Given the description of an element on the screen output the (x, y) to click on. 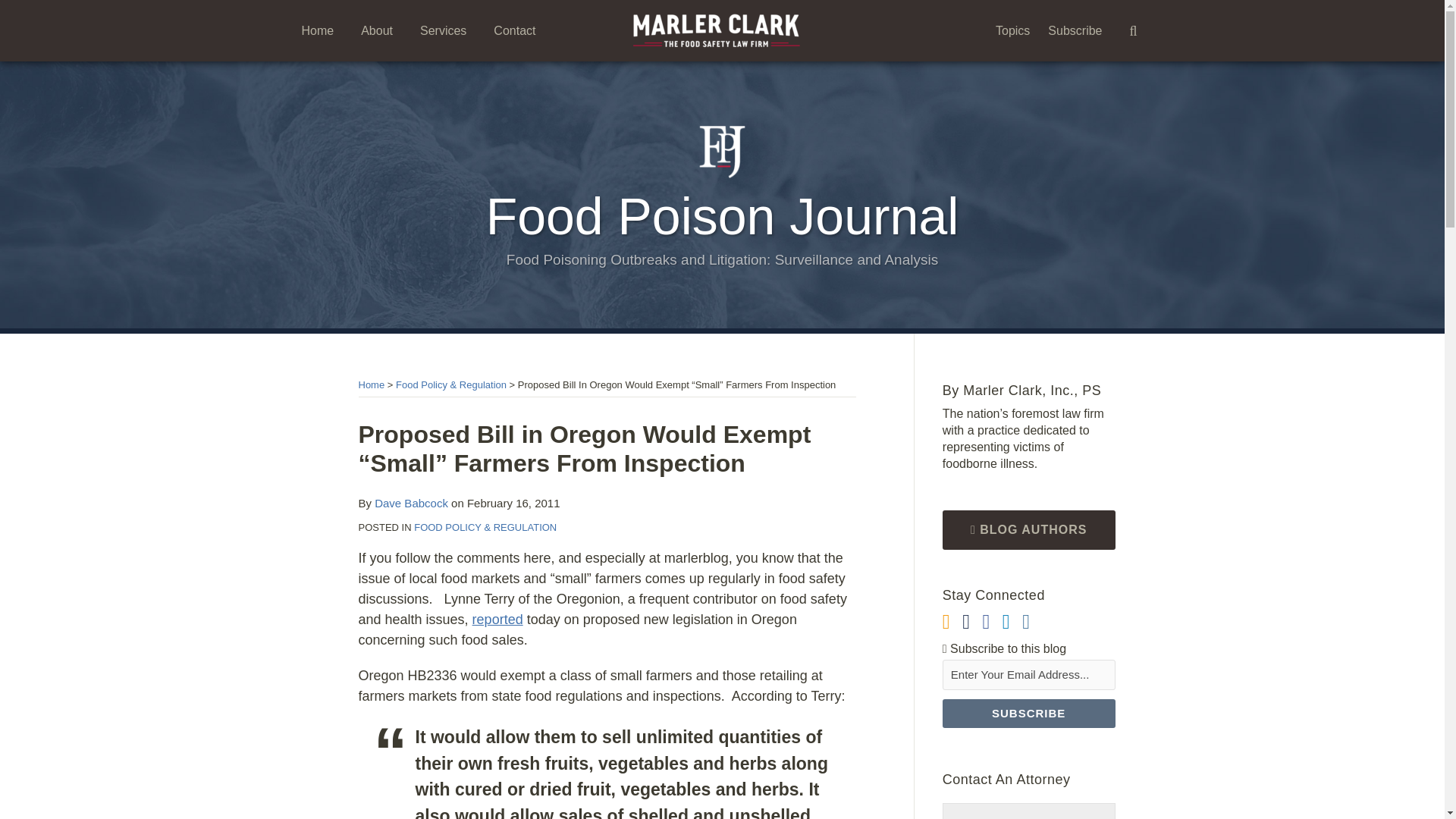
reported (496, 619)
Food Poison Journal (722, 215)
Topics (1012, 30)
Subscribe (1075, 30)
BLOG AUTHORS (1028, 529)
Contact (514, 30)
About (377, 30)
Home (371, 384)
Home (317, 30)
Services (442, 30)
Subscribe (1028, 713)
Dave Babcock (411, 502)
